Given the description of an element on the screen output the (x, y) to click on. 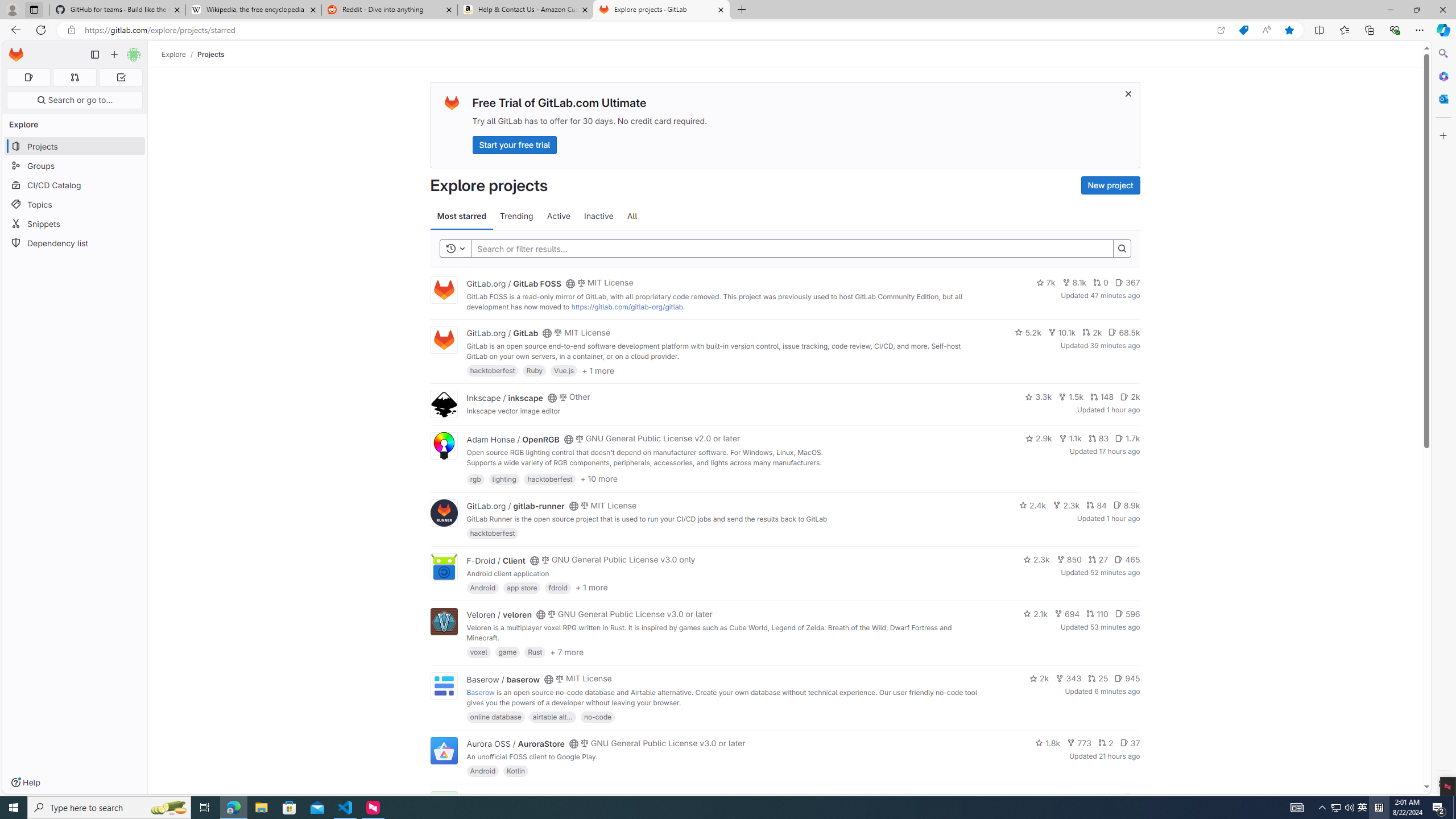
hacktoberfest (492, 533)
1.4k (1054, 797)
465 (1127, 559)
343 (1068, 678)
Snippets (74, 223)
game (507, 651)
app store (521, 587)
Create new... (113, 54)
2 (1105, 742)
Kotlin (515, 770)
945 (1127, 678)
Merge requests 0 (74, 76)
